Given the description of an element on the screen output the (x, y) to click on. 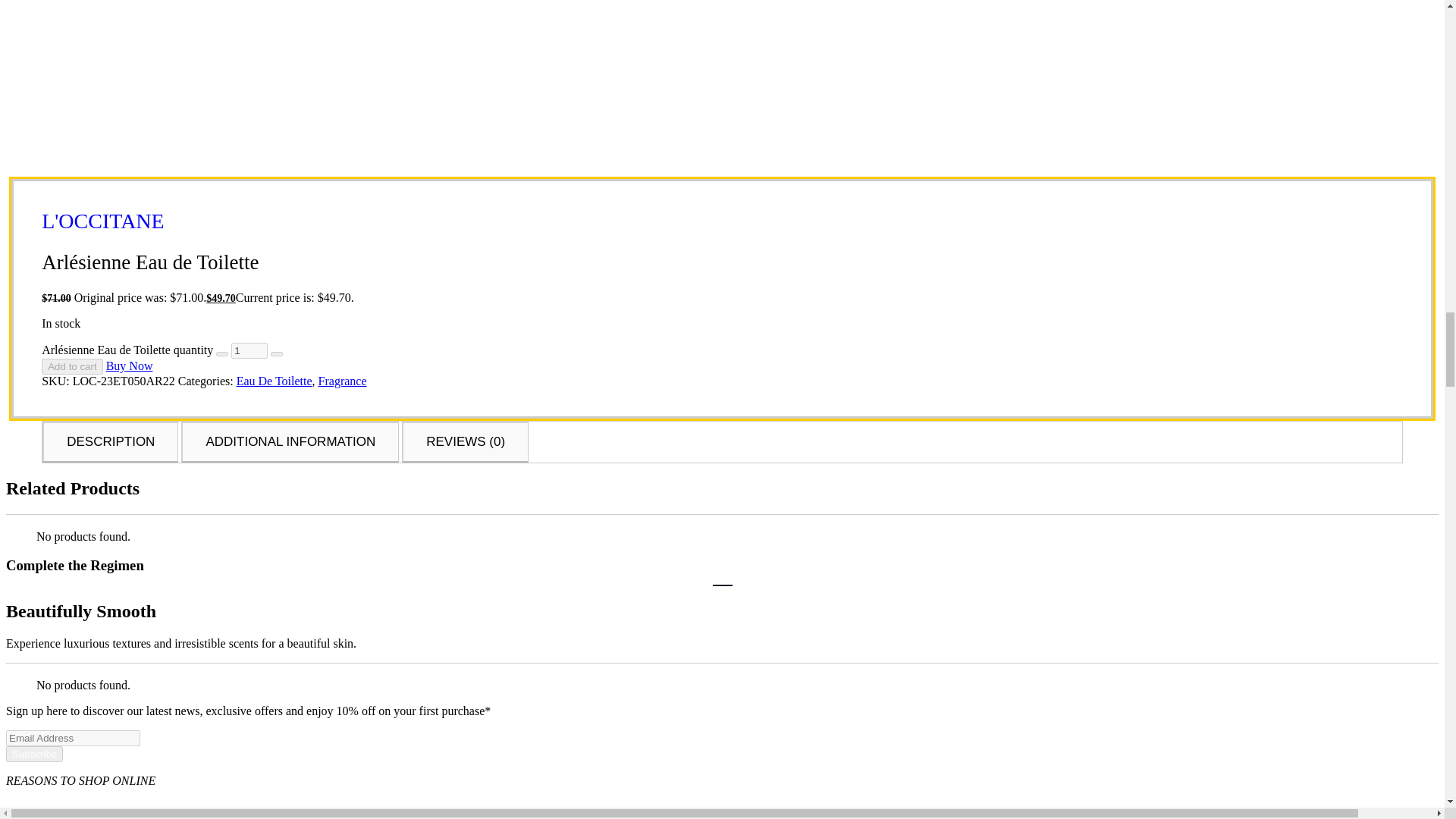
1 (249, 350)
